Given the description of an element on the screen output the (x, y) to click on. 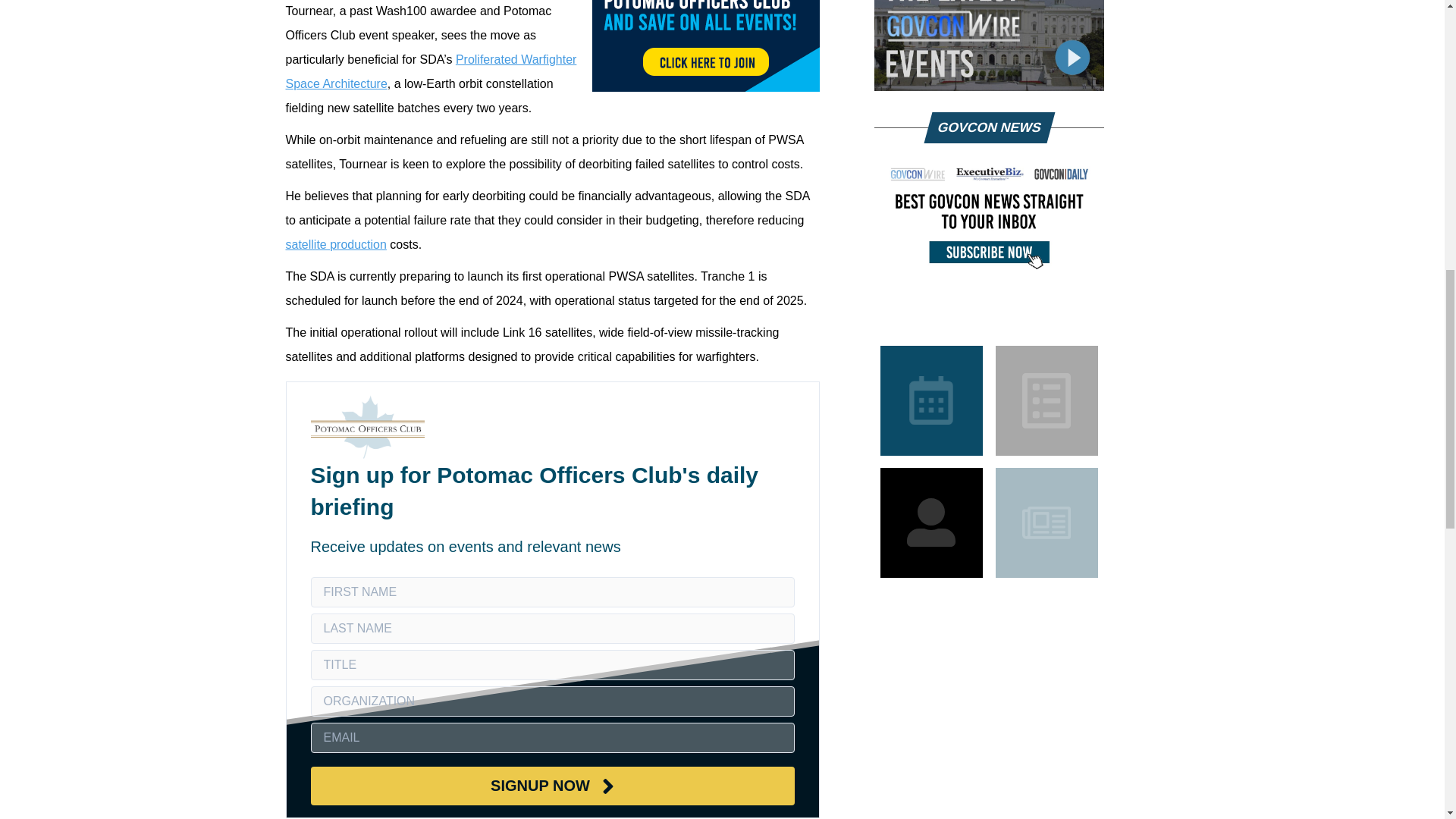
SIGNUP NOW (552, 785)
satellite production (335, 244)
Proliferated Warfighter Space Architecture (430, 71)
